Given the description of an element on the screen output the (x, y) to click on. 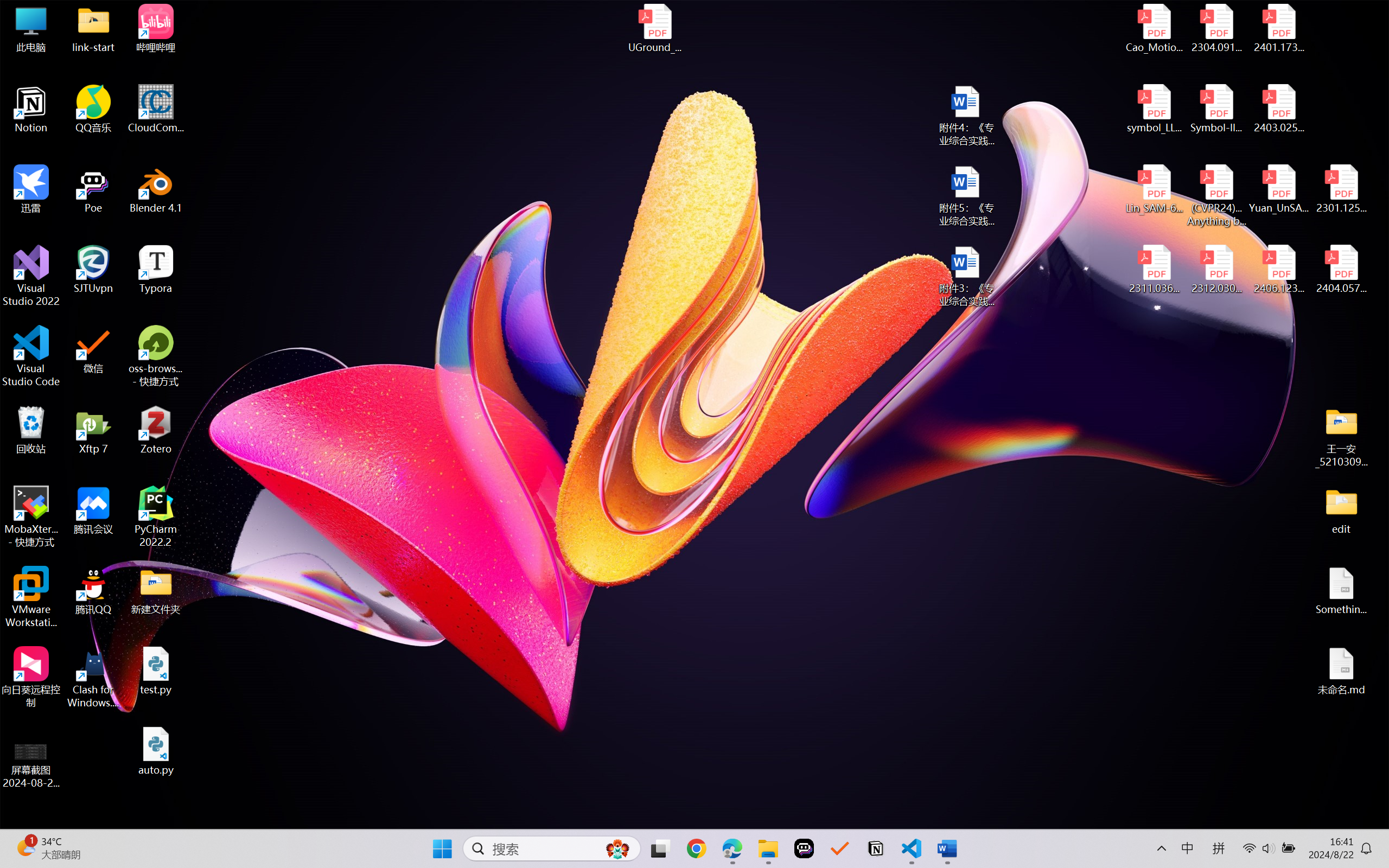
auto.py (156, 751)
2401.17399v1.pdf (1278, 28)
PyCharm 2022.2 (156, 516)
